Given the description of an element on the screen output the (x, y) to click on. 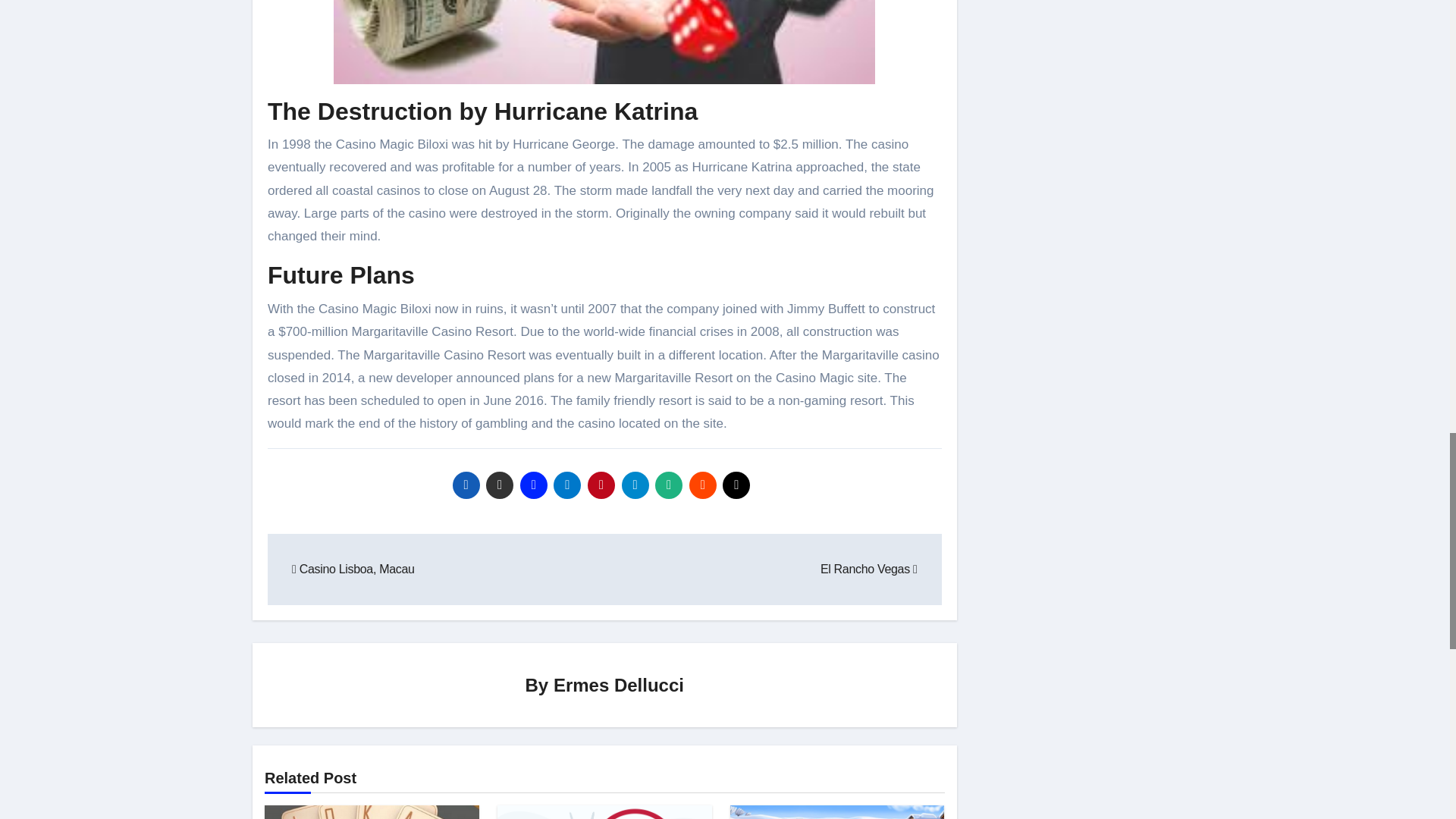
El Rancho Vegas (869, 568)
Ermes Dellucci (618, 684)
Casino Lisboa, Macau (353, 568)
